Given the description of an element on the screen output the (x, y) to click on. 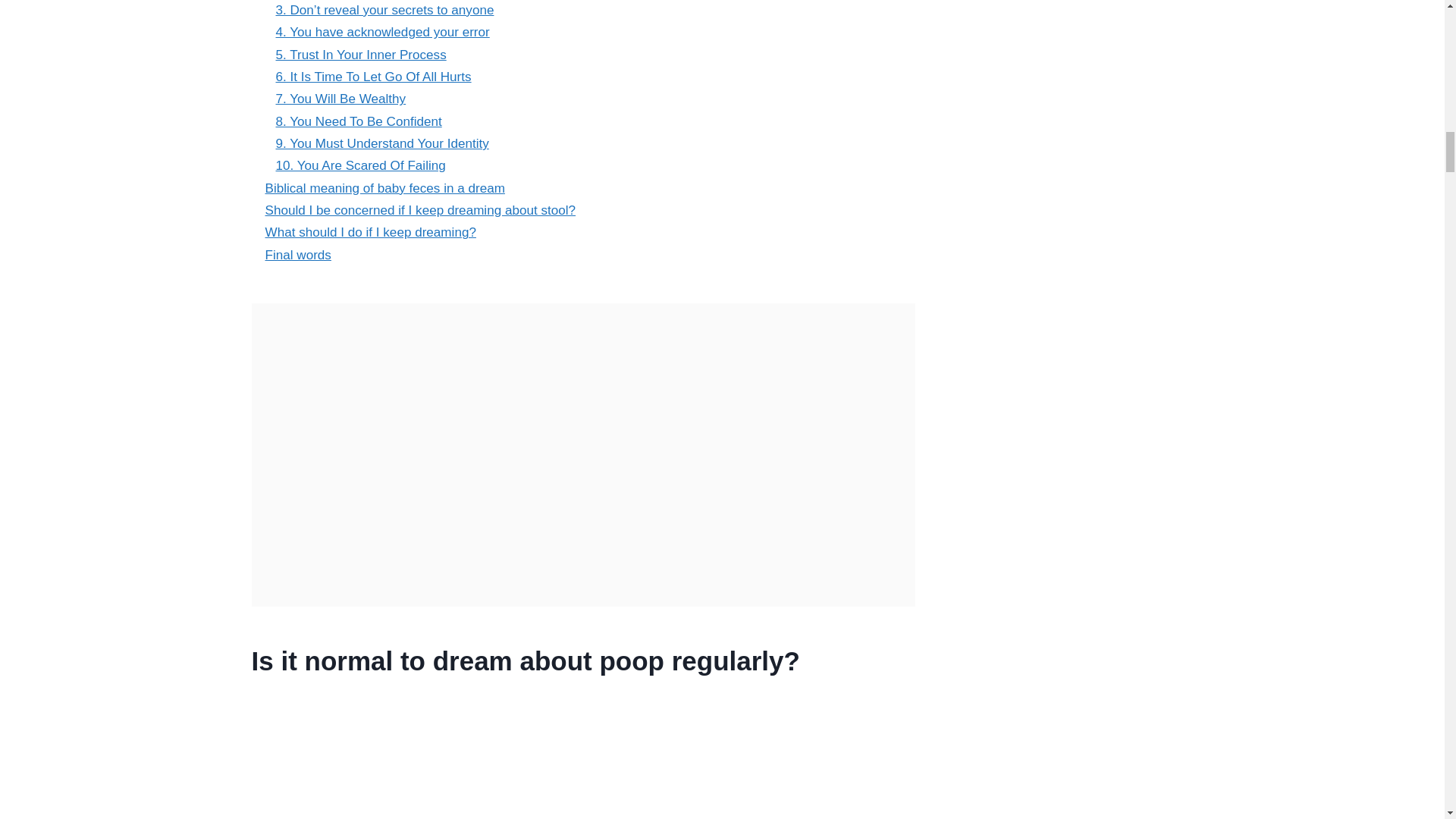
Should I be concerned if I keep dreaming about stool? (420, 210)
6. It Is Time To Let Go Of All Hurts (373, 76)
10. You Are Scared Of Failing (360, 165)
What should I do if I keep dreaming? (370, 232)
5. Trust In Your Inner Process (361, 54)
Biblical meaning of baby feces in a dream (384, 187)
8. You Need To Be Confident (359, 121)
7. You Will Be Wealthy (341, 98)
Final words (297, 255)
9. You Must Understand Your Identity (382, 143)
4. You have acknowledged your error (382, 32)
